Given the description of an element on the screen output the (x, y) to click on. 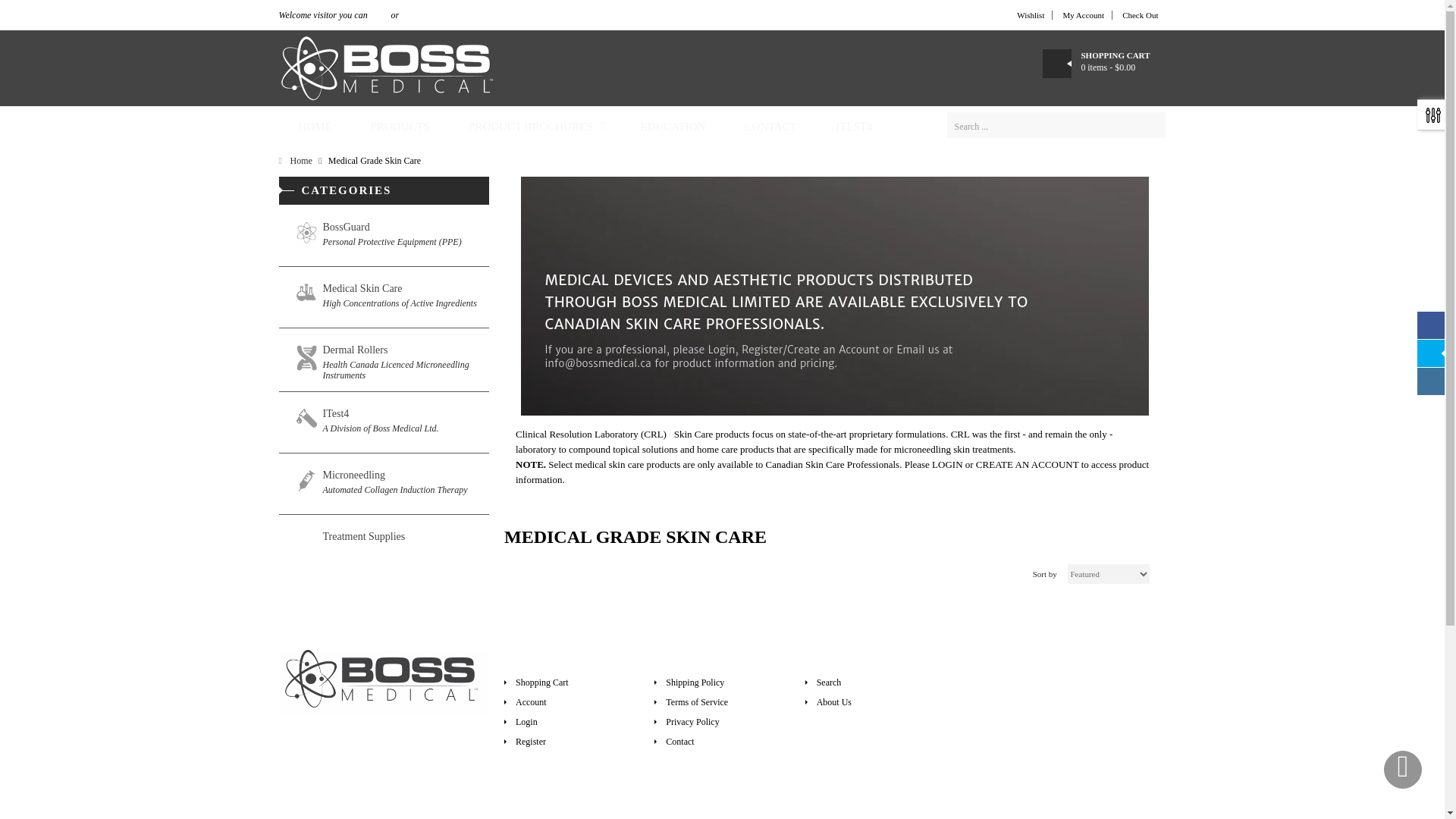
PRODUCTS (399, 125)
My Account (1083, 14)
ITEST4 (853, 125)
Login (571, 721)
Shopping Cart (1140, 14)
Log in (378, 14)
Product Brochures (534, 125)
Wishlist (384, 483)
About Us (1030, 14)
Shipping Policy (872, 701)
Shopping Cart (721, 682)
Back to the frontpage (384, 296)
Wishlist (571, 682)
